Given the description of an element on the screen output the (x, y) to click on. 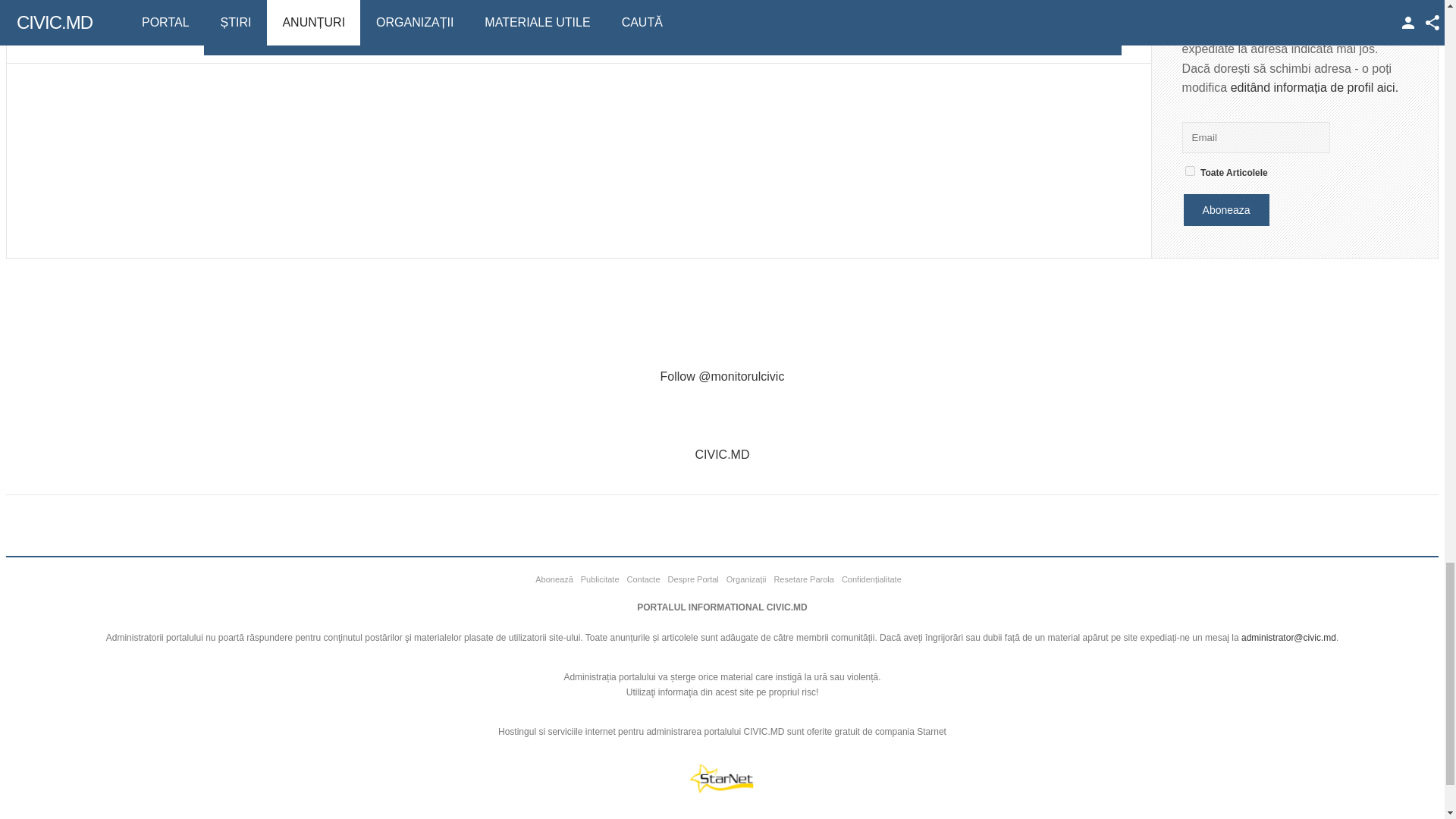
18 (1190, 171)
Aboneaza (1226, 210)
